Given the description of an element on the screen output the (x, y) to click on. 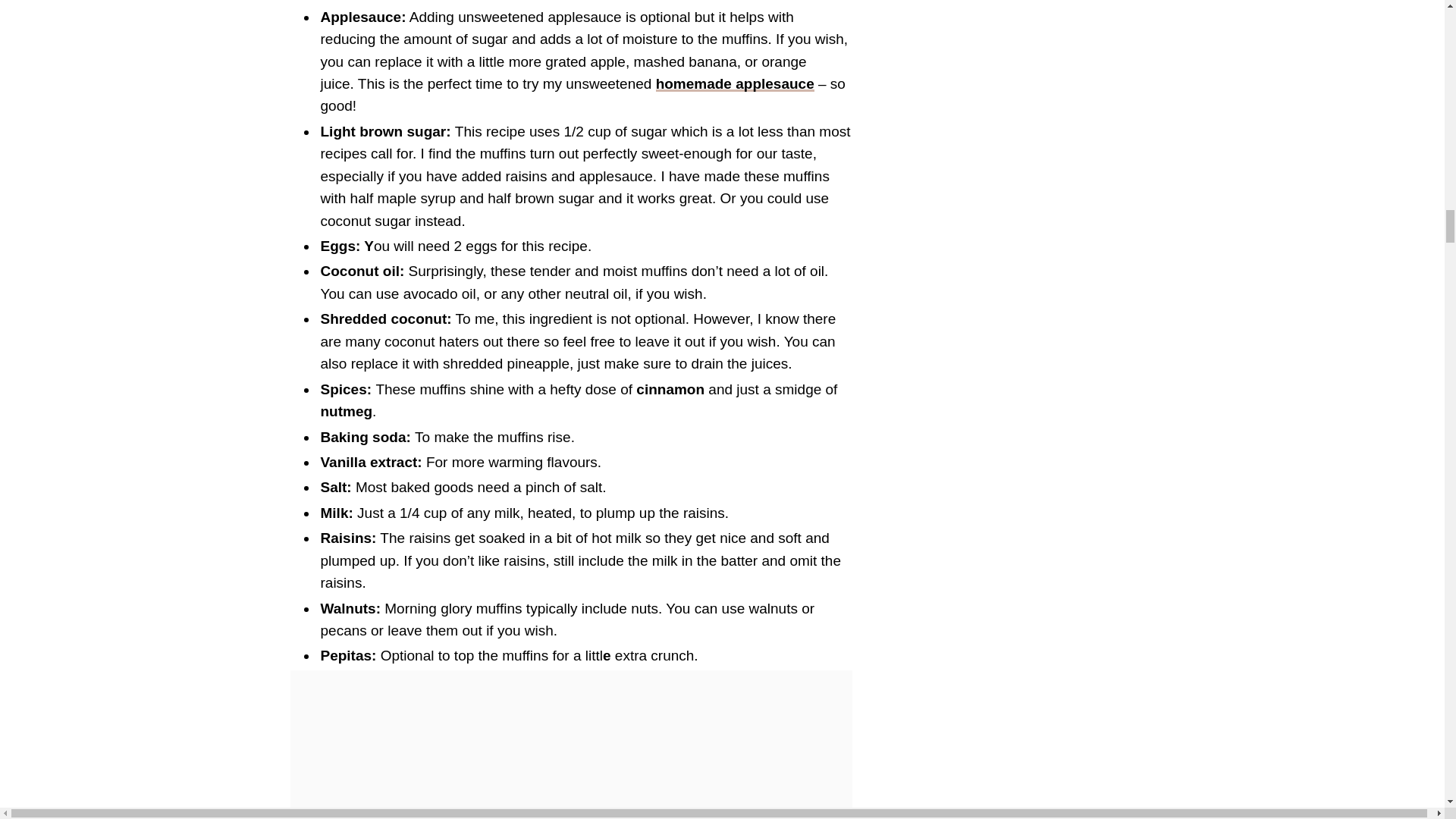
homemade applesauce (734, 83)
